Given the description of an element on the screen output the (x, y) to click on. 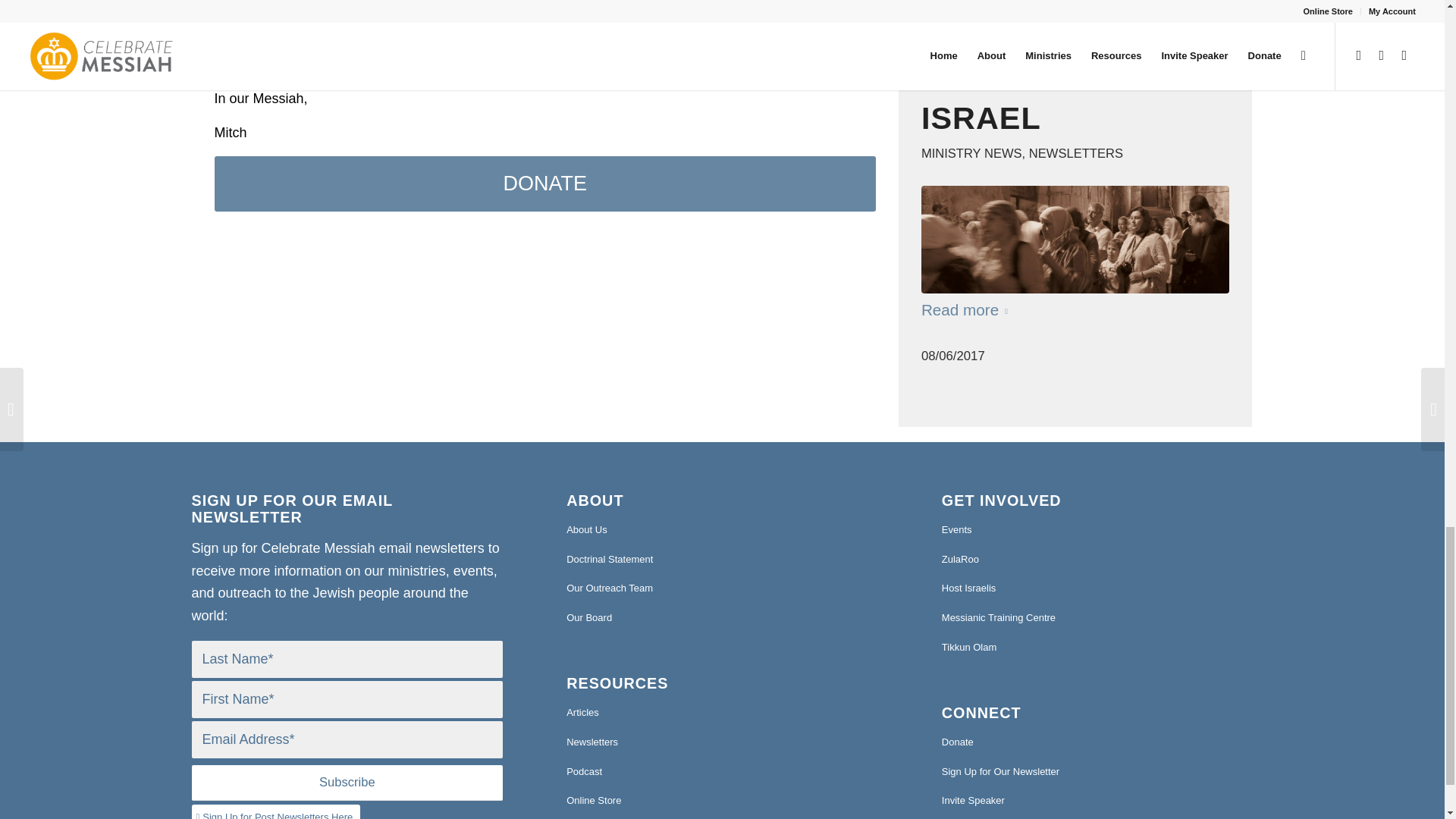
Permanent Link: New Immigrants Struggle in Israel (1068, 76)
Subscribe (346, 782)
